Given the description of an element on the screen output the (x, y) to click on. 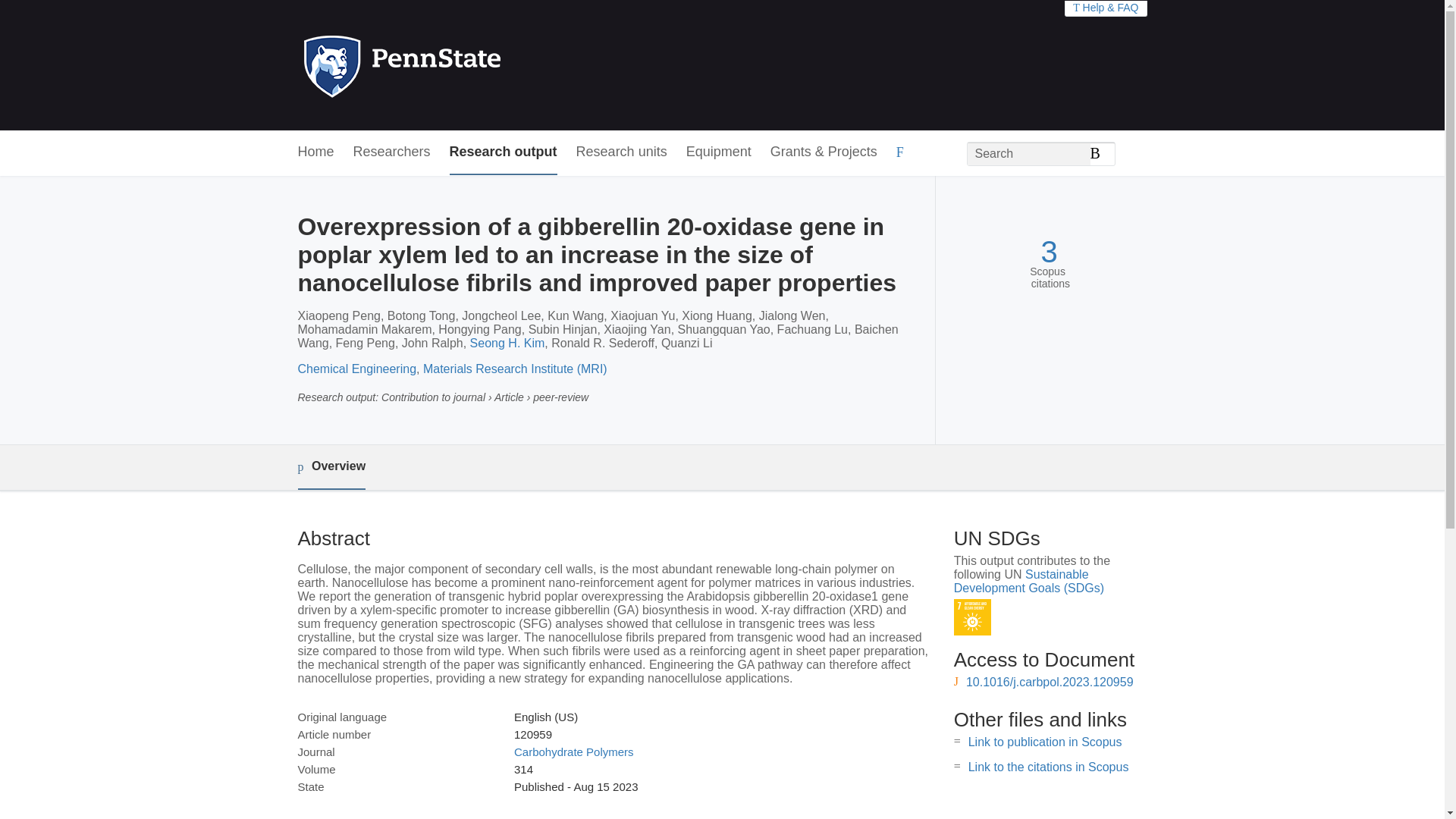
Carbohydrate Polymers (573, 751)
Research output (503, 152)
Overview (331, 467)
Equipment (718, 152)
Researchers (391, 152)
Link to publication in Scopus (1045, 741)
Seong H. Kim (507, 342)
Penn State Home (467, 65)
SDG 7 - Affordable and Clean Energy (972, 617)
Research units (621, 152)
Link to the citations in Scopus (1048, 766)
Chemical Engineering (356, 368)
